Given the description of an element on the screen output the (x, y) to click on. 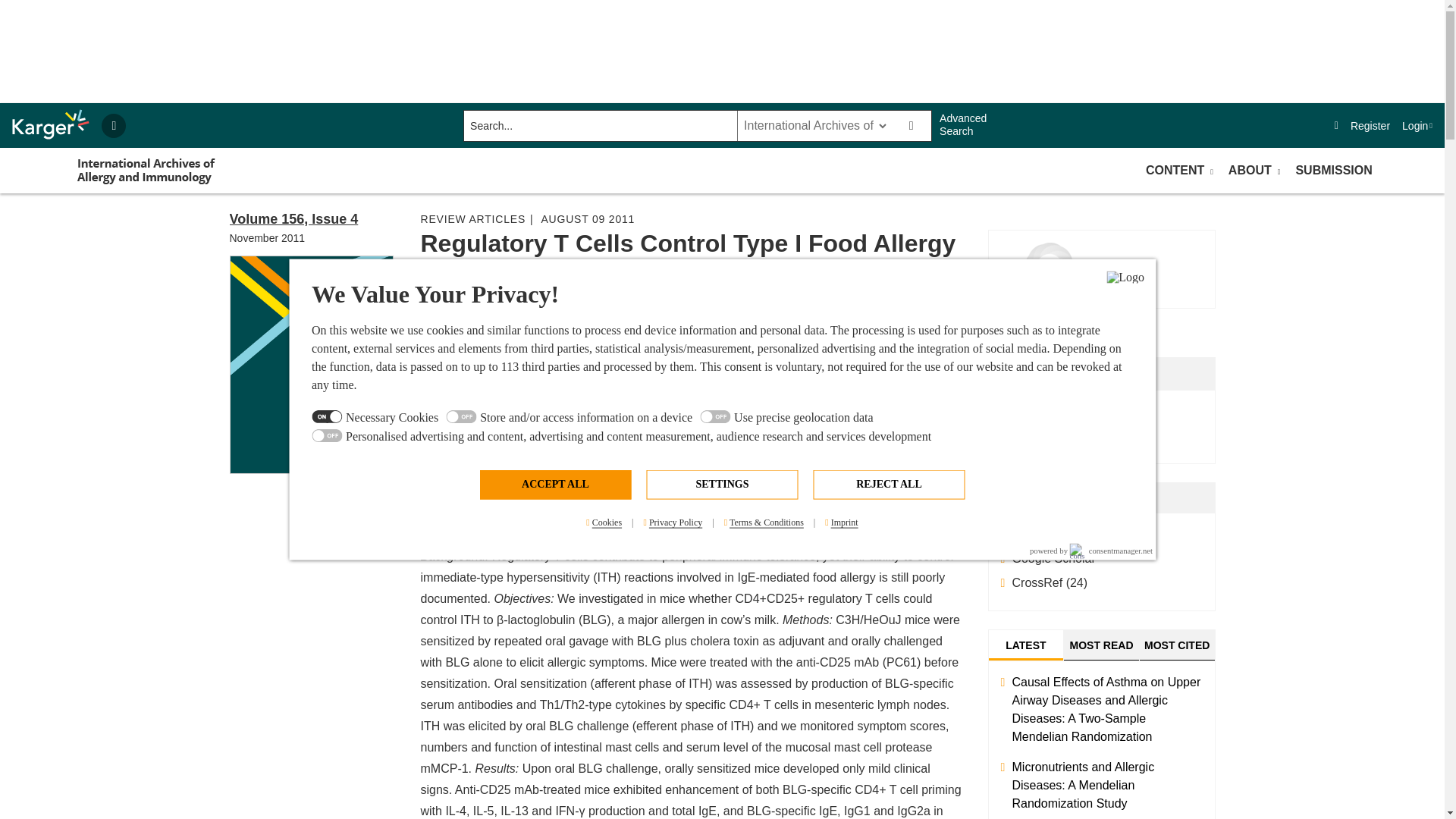
Cookies (603, 521)
search input (598, 125)
Privacy Policy (672, 521)
ACCEPT ALL (554, 484)
Purpose (721, 428)
consentmanager.net (1111, 549)
Imprint (840, 521)
SETTINGS (721, 484)
REJECT ALL (887, 484)
